Given the description of an element on the screen output the (x, y) to click on. 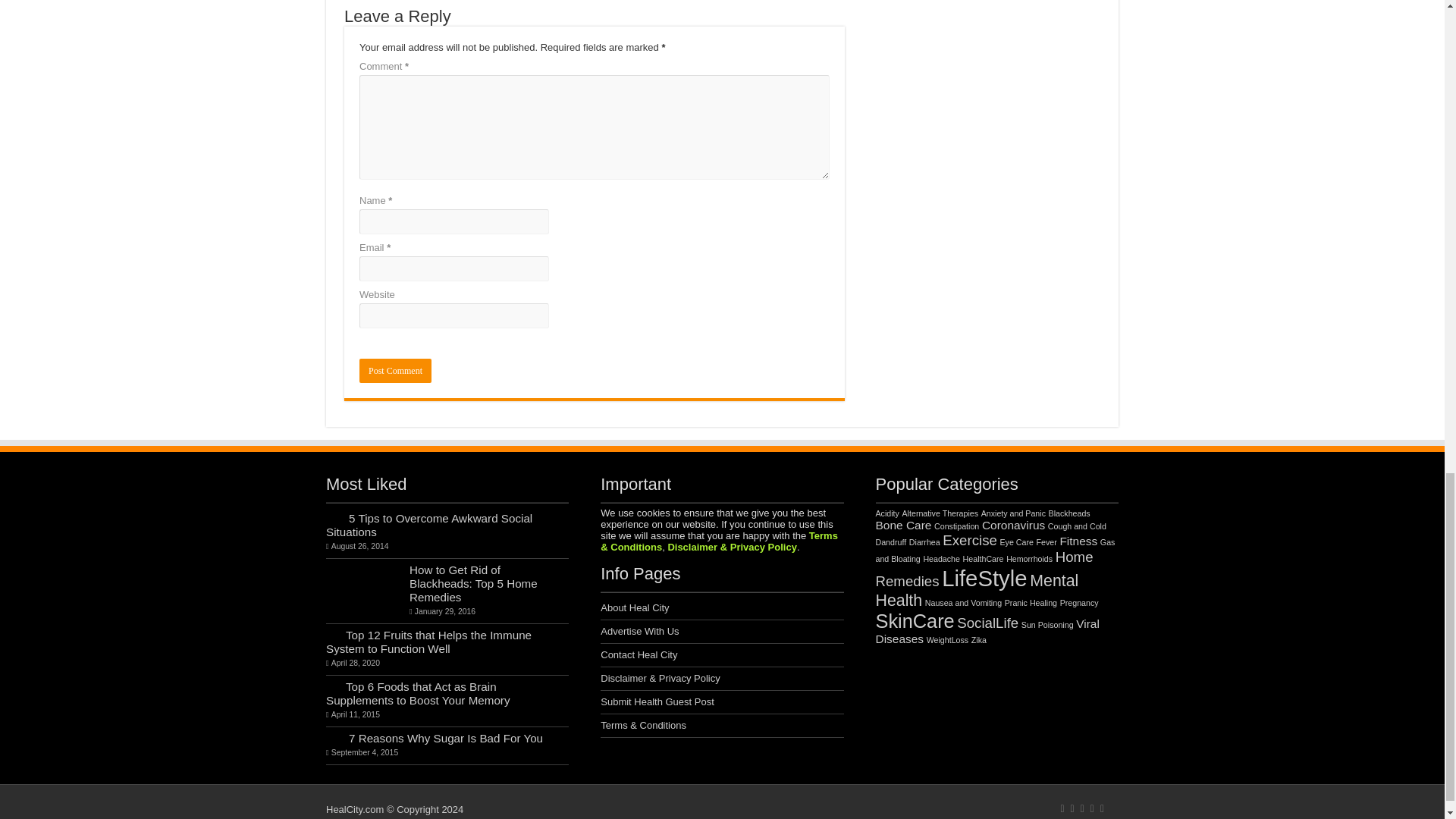
Post Comment (394, 370)
